Given the description of an element on the screen output the (x, y) to click on. 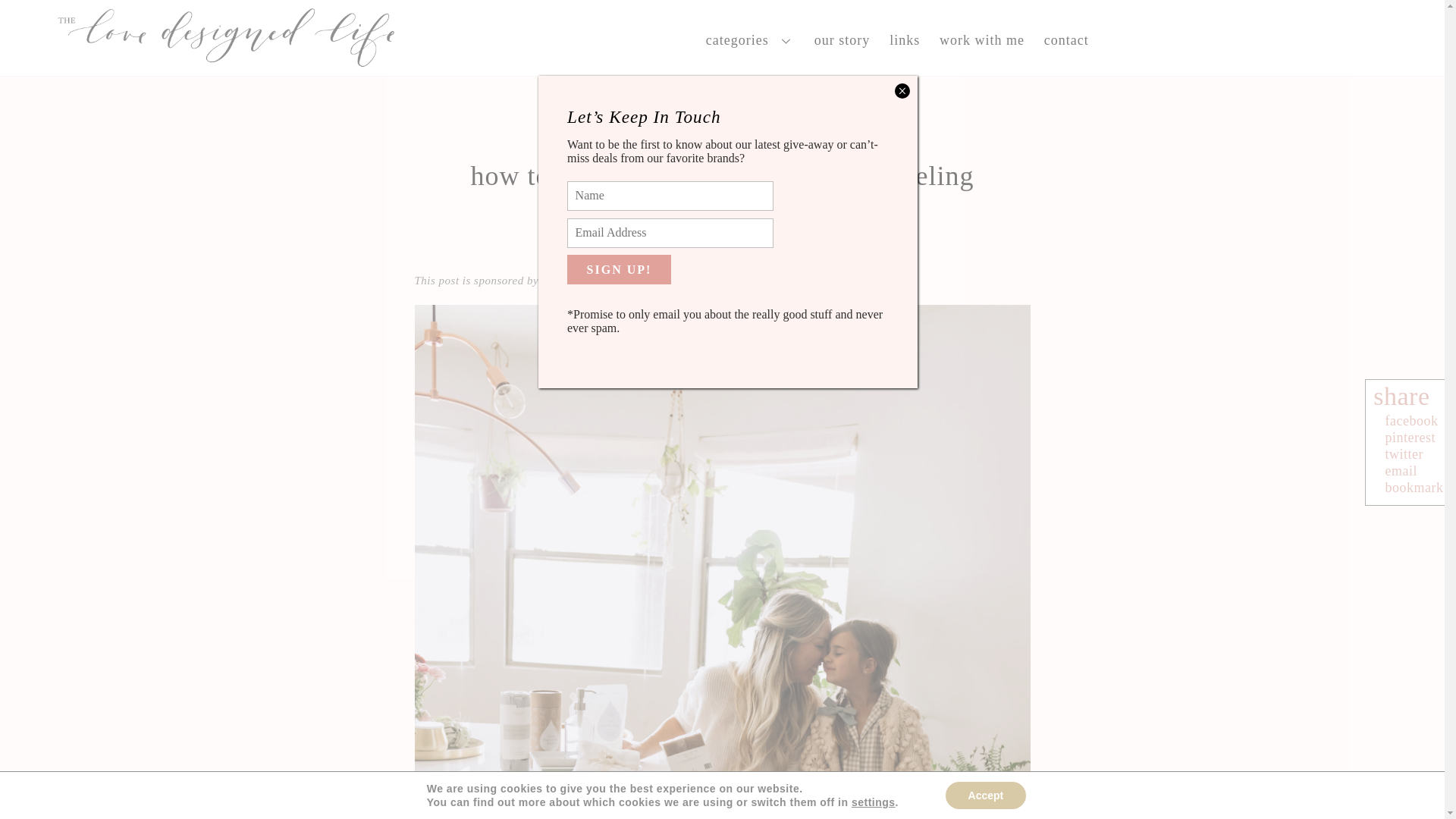
Share this article on Facebook (1414, 420)
our story (841, 39)
links (904, 39)
facebook (1414, 420)
twitter (1407, 454)
email (1403, 470)
Grove Collaborative (592, 280)
pinterest (1413, 437)
Share this article on Twitter (1407, 454)
Share an image of this article on Pinterest (1413, 437)
the love designed life (226, 64)
categories (750, 39)
natural living (722, 252)
work with me (981, 39)
how to be more sustainable without feeling overwhelmed (722, 194)
